Given the description of an element on the screen output the (x, y) to click on. 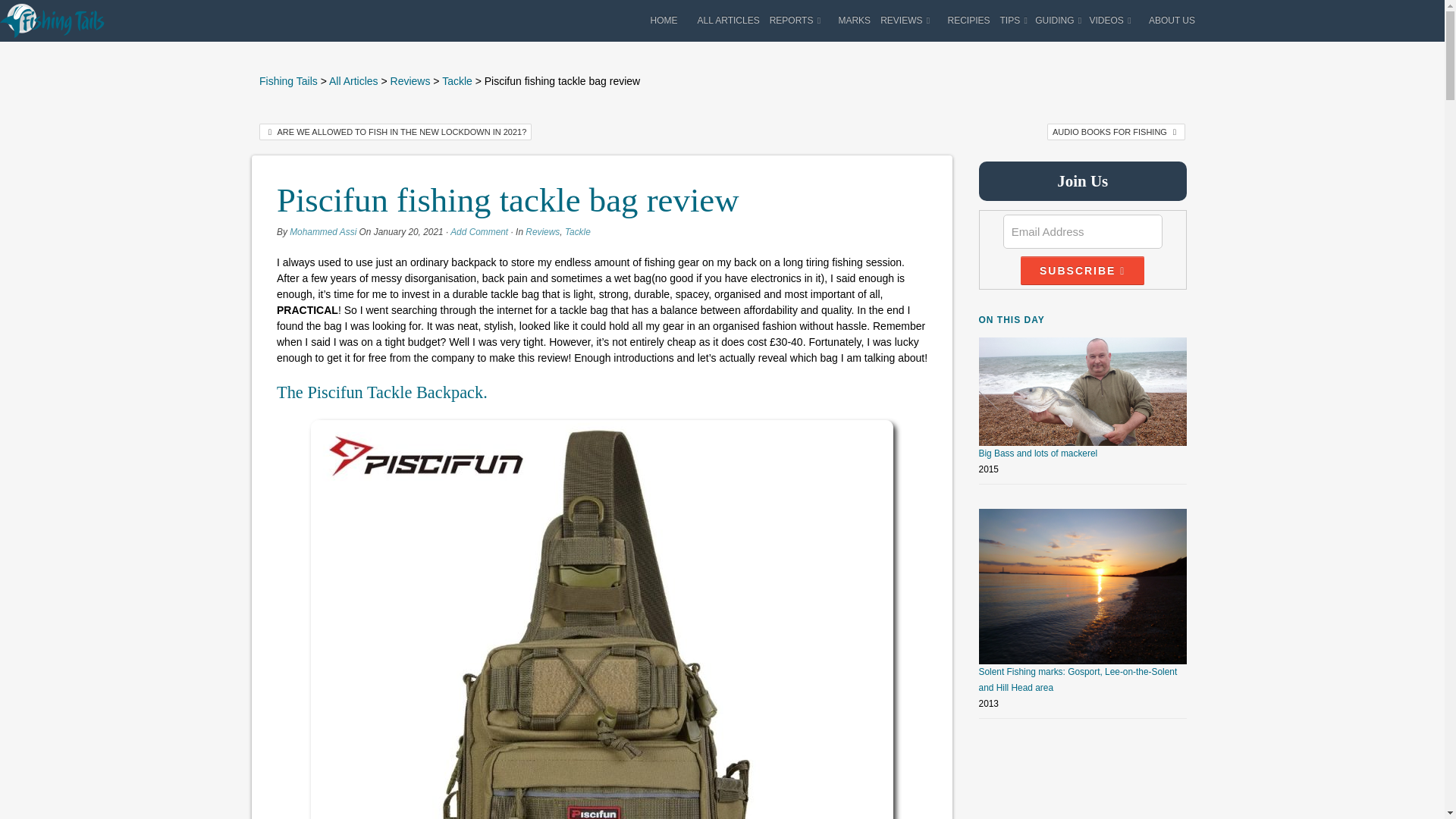
Go to the Tackle category archives. (456, 80)
Go to Fishing Tails. (288, 80)
Posts by Mohammed Assi (322, 231)
HOME (663, 20)
Go to All Articles. (353, 80)
Go to the Reviews category archives. (410, 80)
